Given the description of an element on the screen output the (x, y) to click on. 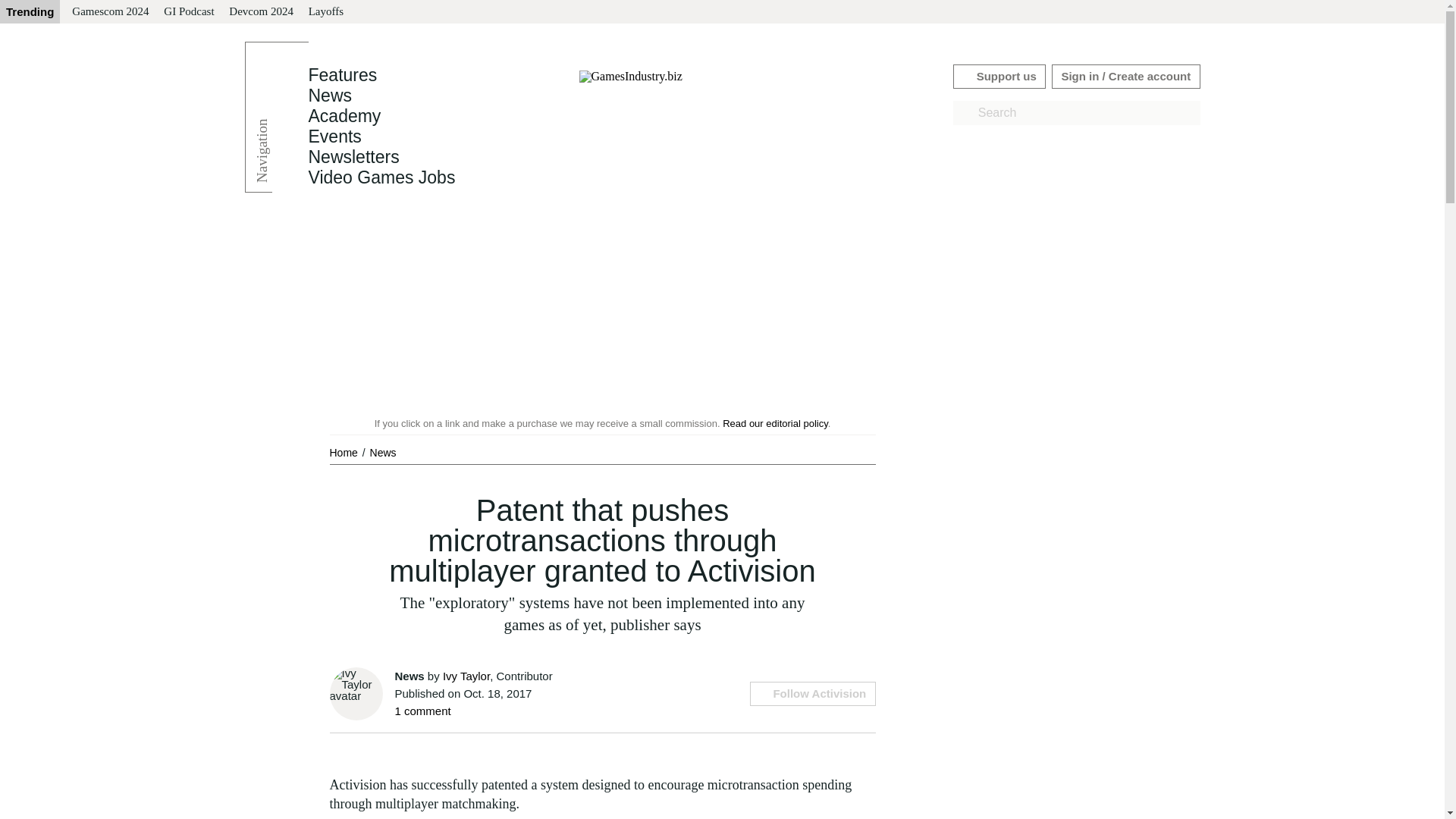
Home (344, 452)
News (382, 452)
1 comment (421, 710)
News (329, 95)
News (329, 95)
Follow Activision (812, 693)
Video Games Jobs (380, 177)
Video Games Jobs (380, 177)
GI Podcast (188, 11)
Ivy Taylor (465, 675)
